Given the description of an element on the screen output the (x, y) to click on. 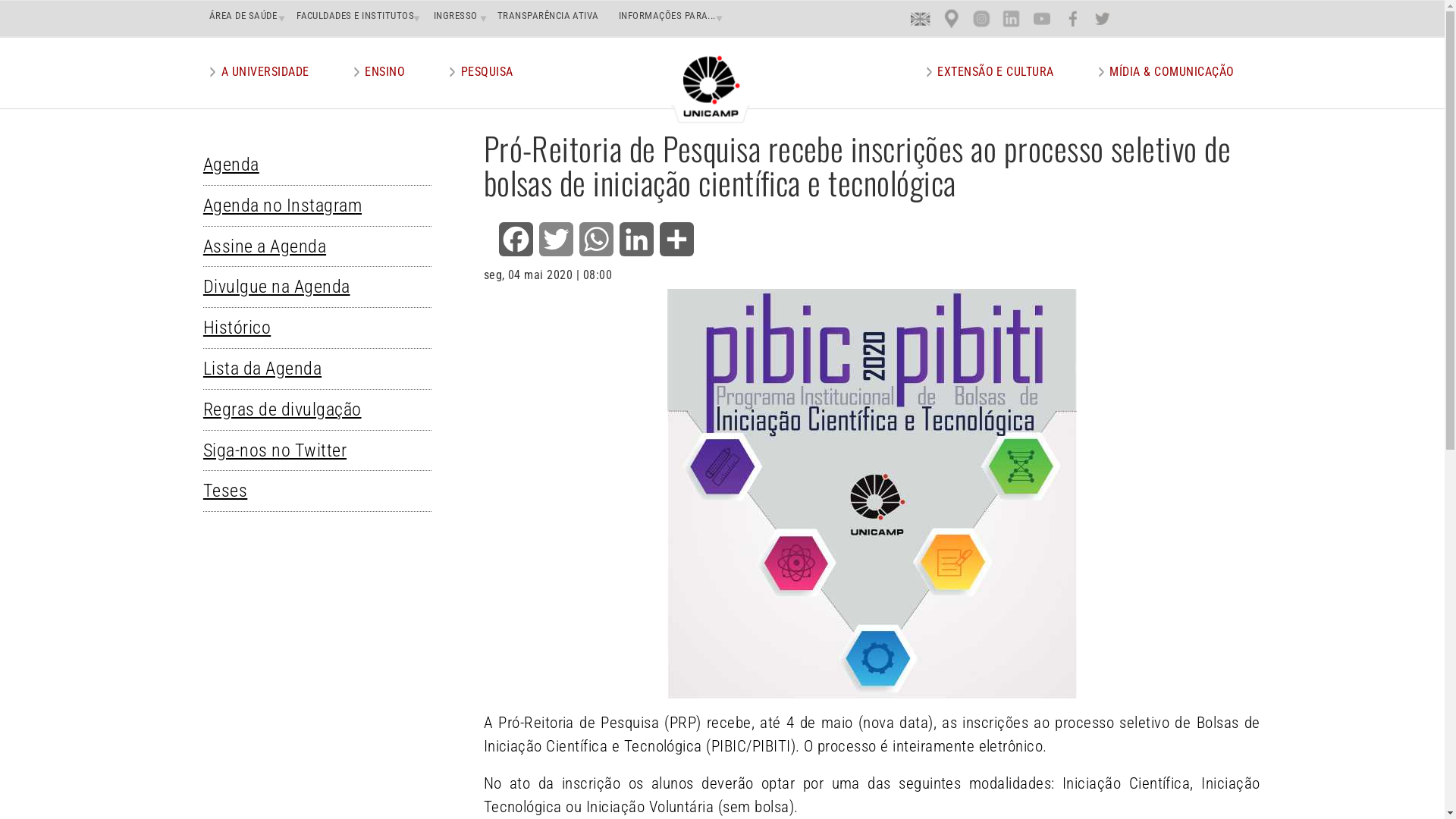
Siga-nos no Twitter Element type: text (282, 450)
Twitter Element type: text (556, 238)
ENSINO Element type: text (384, 71)
Agenda no Instagram Element type: text (289, 205)
Face Element type: text (1073, 18)
You Element type: text (1041, 18)
Facebook Element type: text (515, 238)
Lin Element type: text (1010, 18)
Lista da Agenda Element type: text (269, 368)
INGRESSO Element type: text (452, 15)
Teses Element type: text (232, 490)
WhatsApp Element type: text (596, 238)
Assine a Agenda Element type: text (272, 246)
A UNIVERSIDADE Element type: text (265, 71)
Inst Element type: text (980, 18)
LinkedIn Element type: text (636, 238)
Loca Element type: text (951, 18)
Twit Element type: text (1102, 18)
PESQUISA Element type: text (487, 71)
Share Element type: text (676, 238)
Divulgue na Agenda Element type: text (284, 286)
En Element type: text (920, 18)
Agenda Element type: text (238, 164)
FACULDADES E INSTITUTOS Element type: text (352, 15)
